Given the description of an element on the screen output the (x, y) to click on. 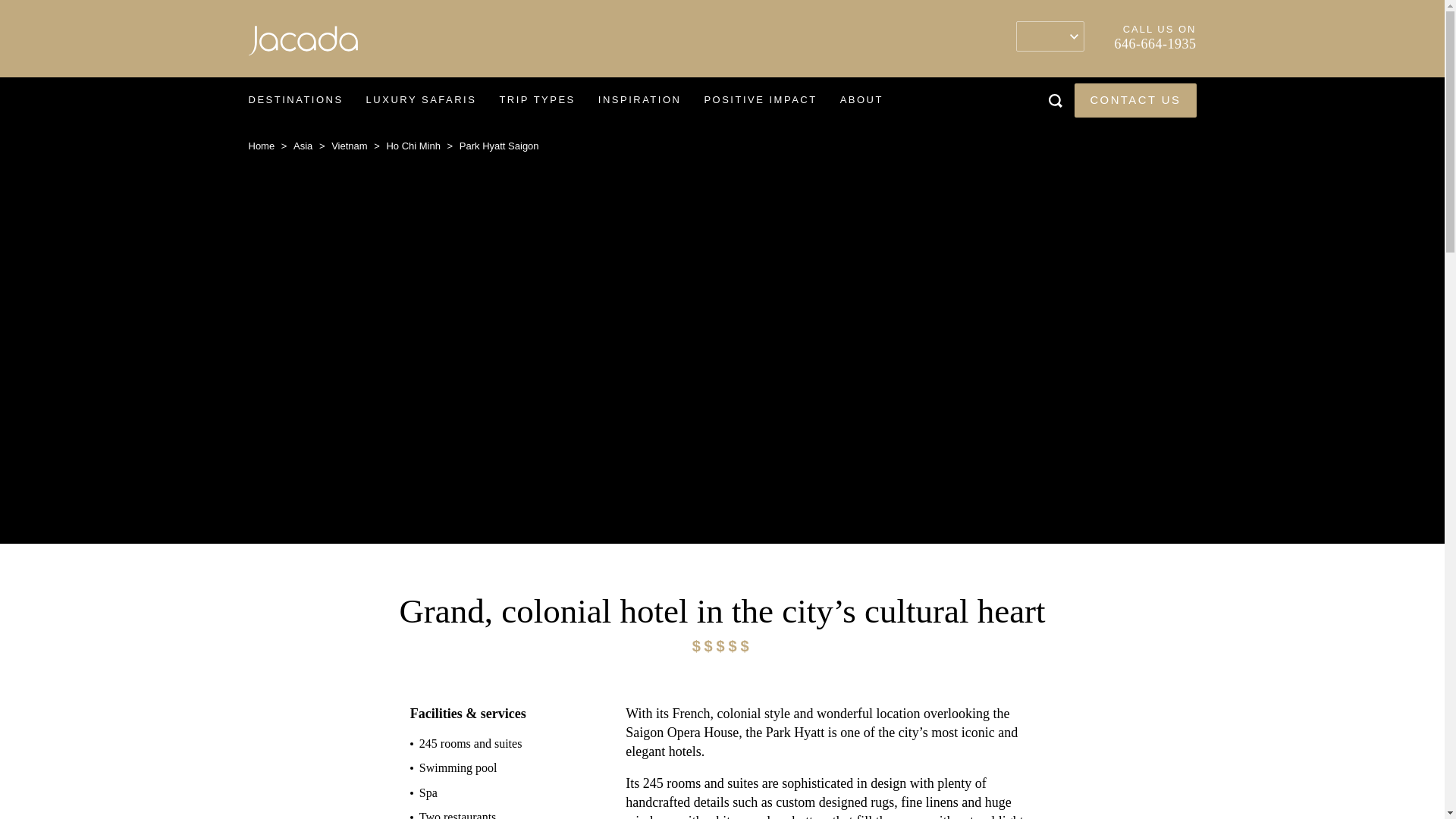
646-664-1935 (1155, 43)
Jacada Travel (303, 43)
DESTINATIONS (294, 99)
